Given the description of an element on the screen output the (x, y) to click on. 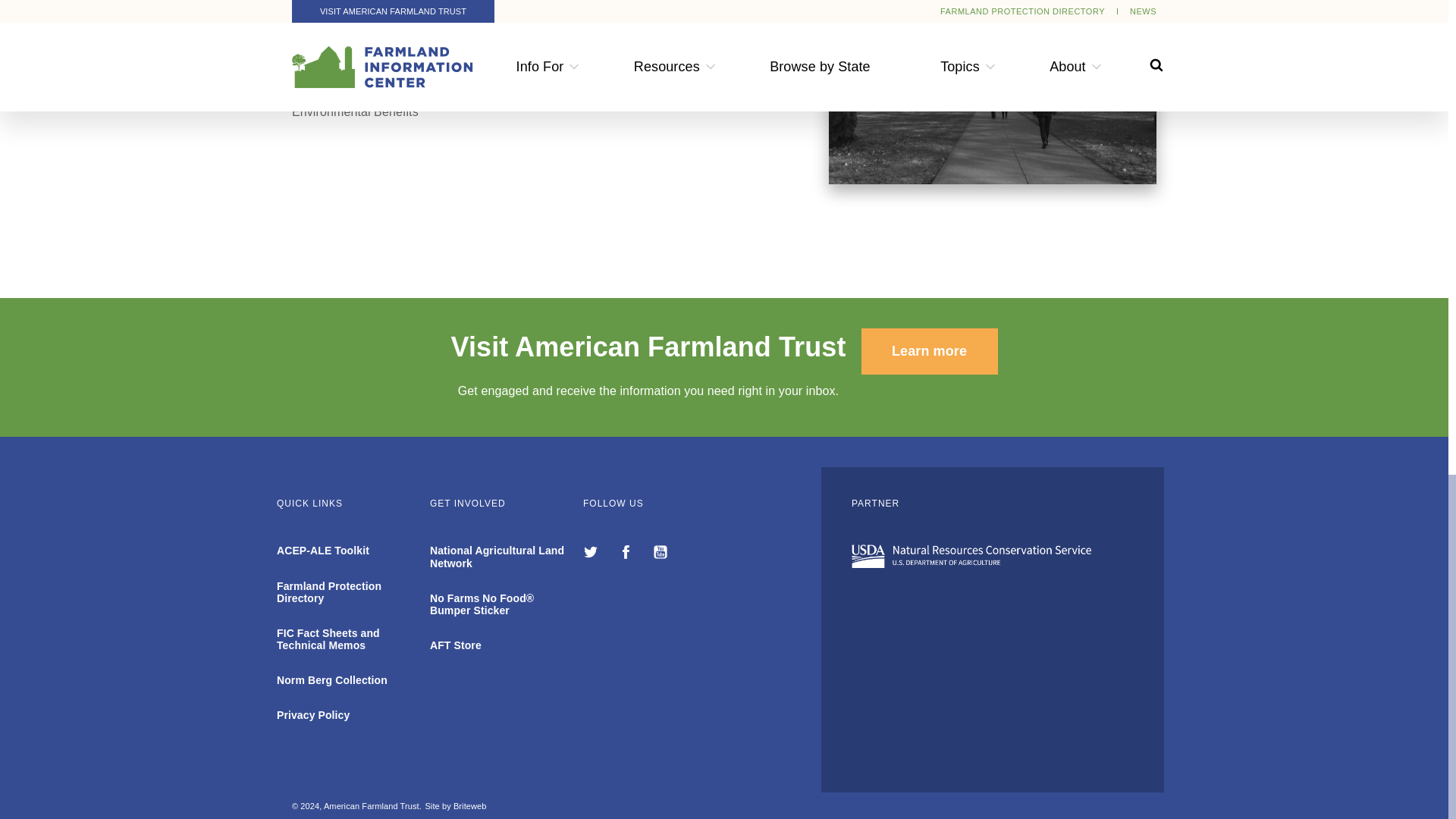
twitter (592, 554)
facebook (627, 554)
youtube (660, 554)
